Given the description of an element on the screen output the (x, y) to click on. 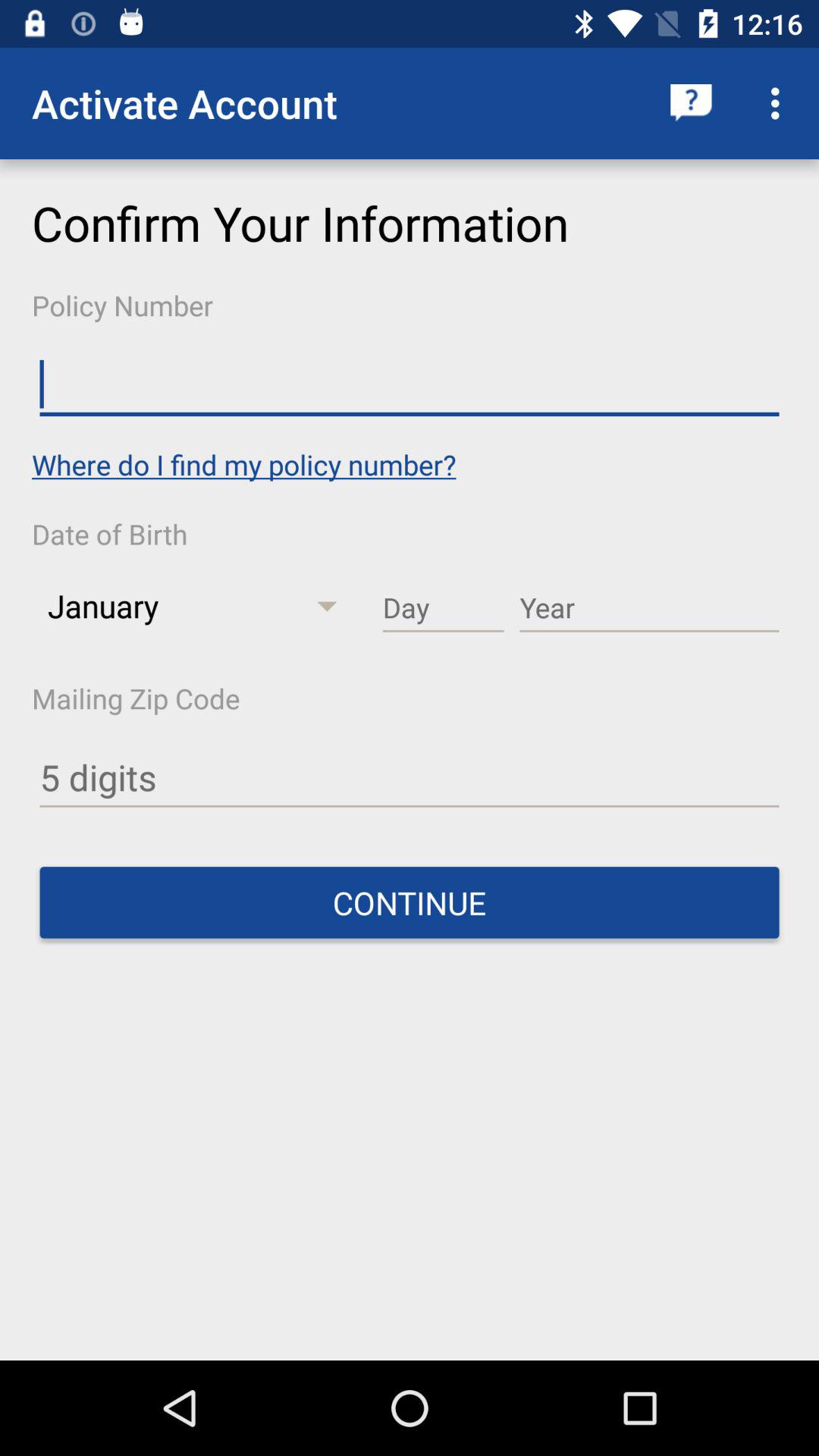
select the item above the continue (409, 777)
